Given the description of an element on the screen output the (x, y) to click on. 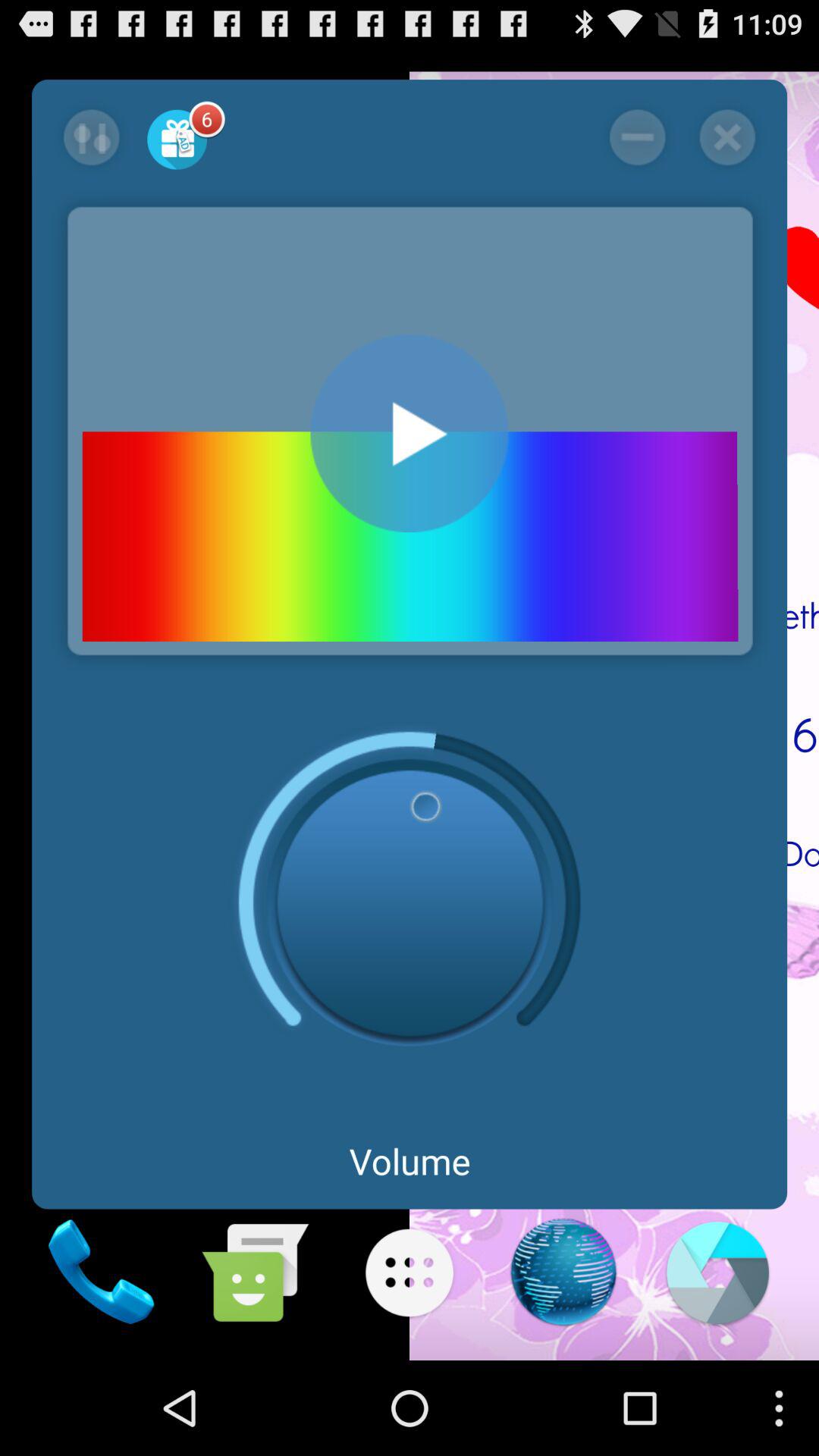
close (727, 137)
